Given the description of an element on the screen output the (x, y) to click on. 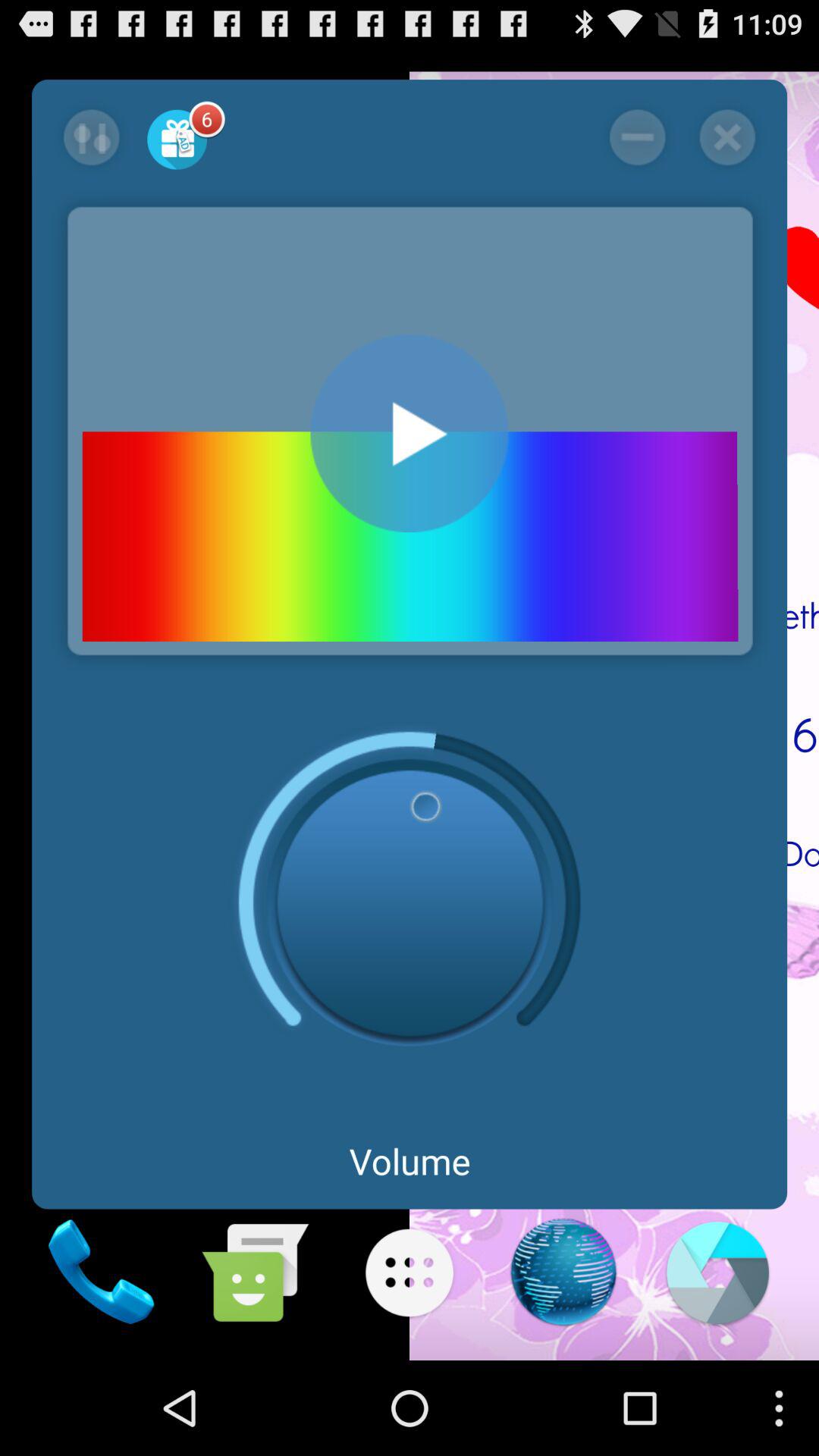
close (727, 137)
